Given the description of an element on the screen output the (x, y) to click on. 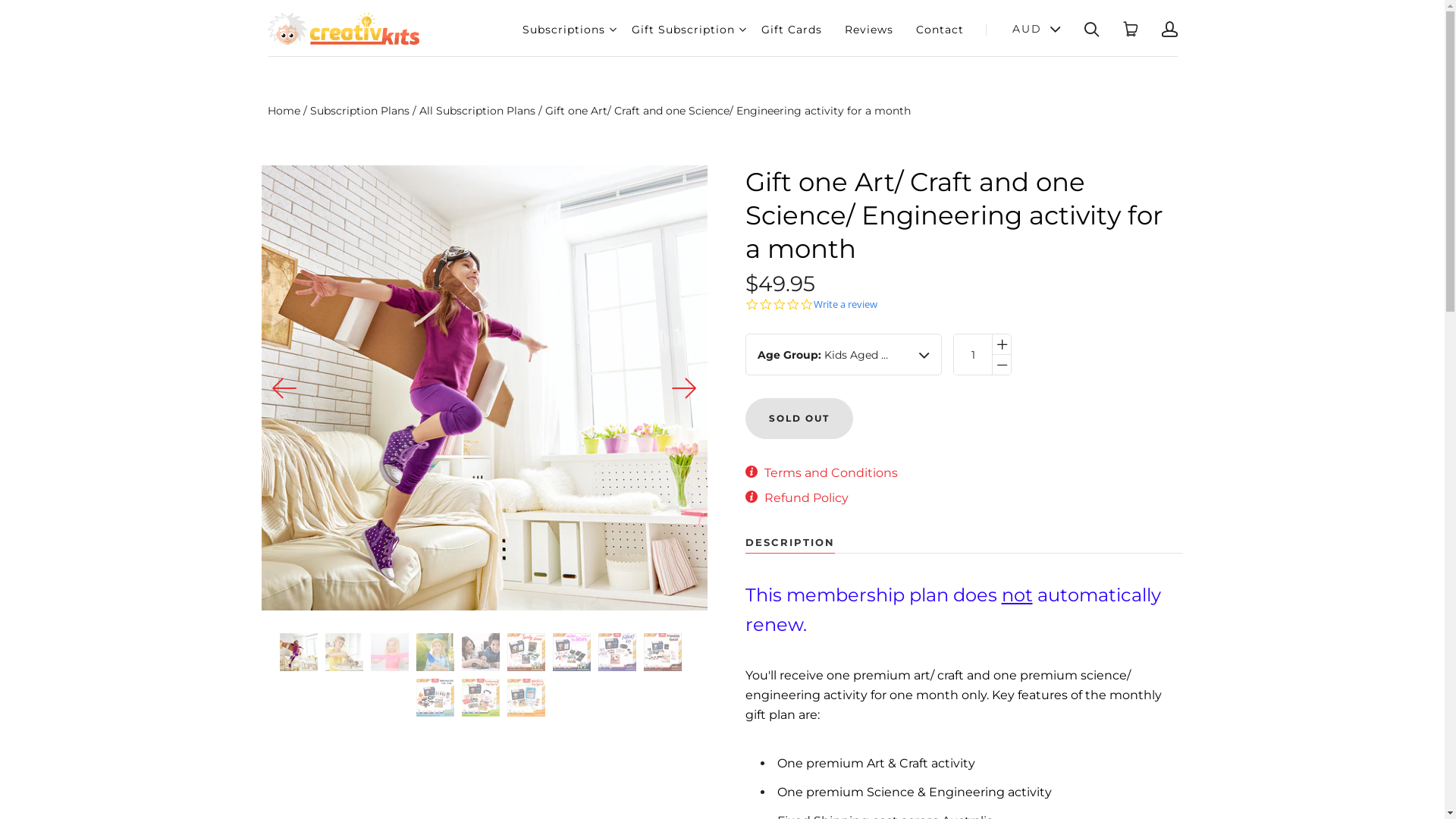
Reviews Element type: text (868, 29)
Subscriptions Element type: text (562, 29)
All Subscription Plans Element type: text (476, 110)
Sold out Element type: text (798, 418)
Gift Subscription Element type: text (682, 29)
Home Element type: text (282, 110)
Write a review Element type: text (844, 304)
Gift Cards Element type: text (791, 29)
Contact Element type: text (939, 29)
Subscription Plans Element type: text (358, 110)
Refund Policy Element type: text (806, 498)
Terms and Conditions Element type: text (830, 473)
